Given the description of an element on the screen output the (x, y) to click on. 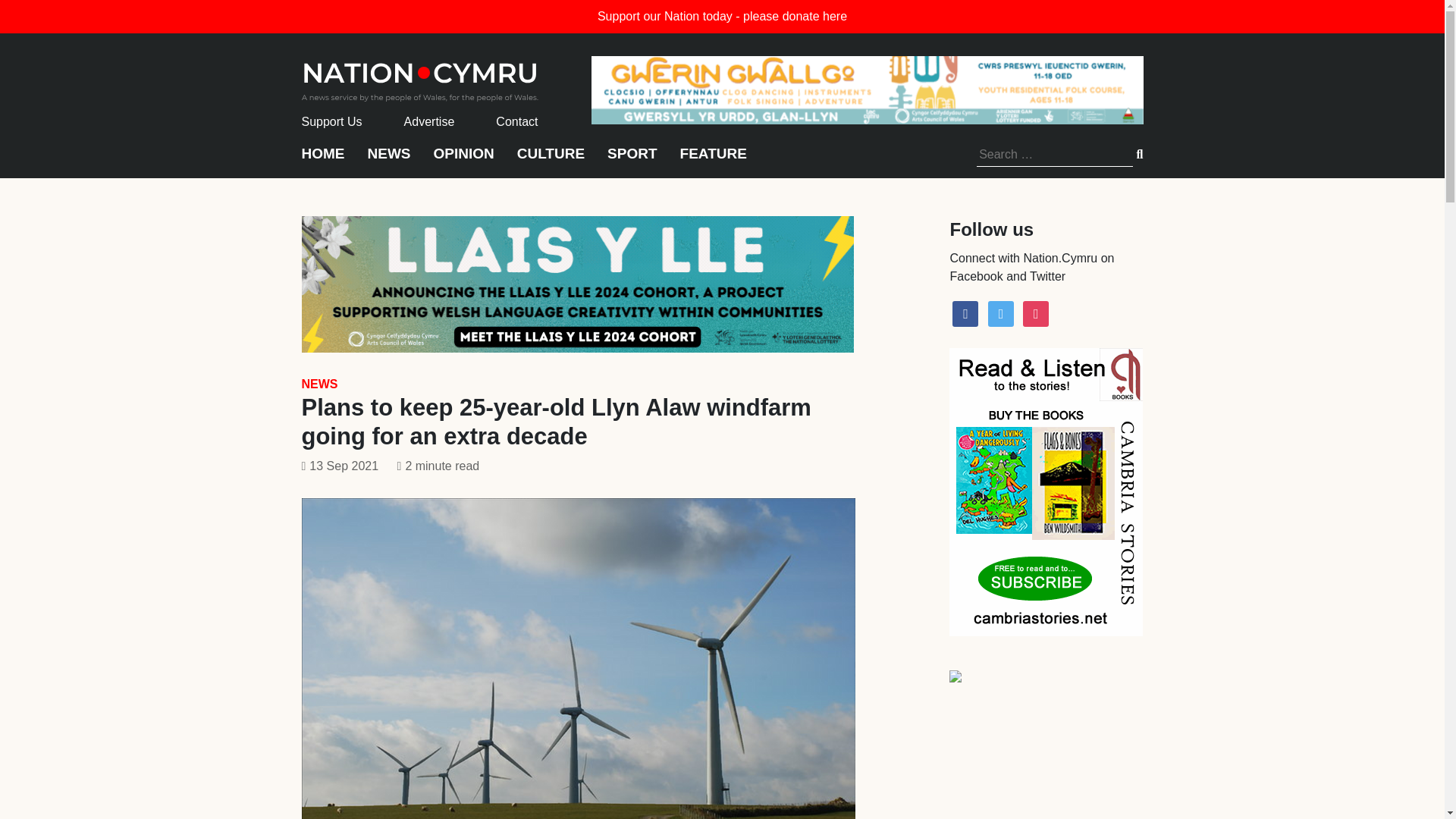
SPORT (631, 160)
Advertise (429, 121)
Support Us (331, 121)
OPINION (464, 160)
home (419, 77)
CULTURE (550, 160)
HOME (323, 160)
FEATURE (712, 160)
NEWS (319, 383)
Contact (516, 121)
